Given the description of an element on the screen output the (x, y) to click on. 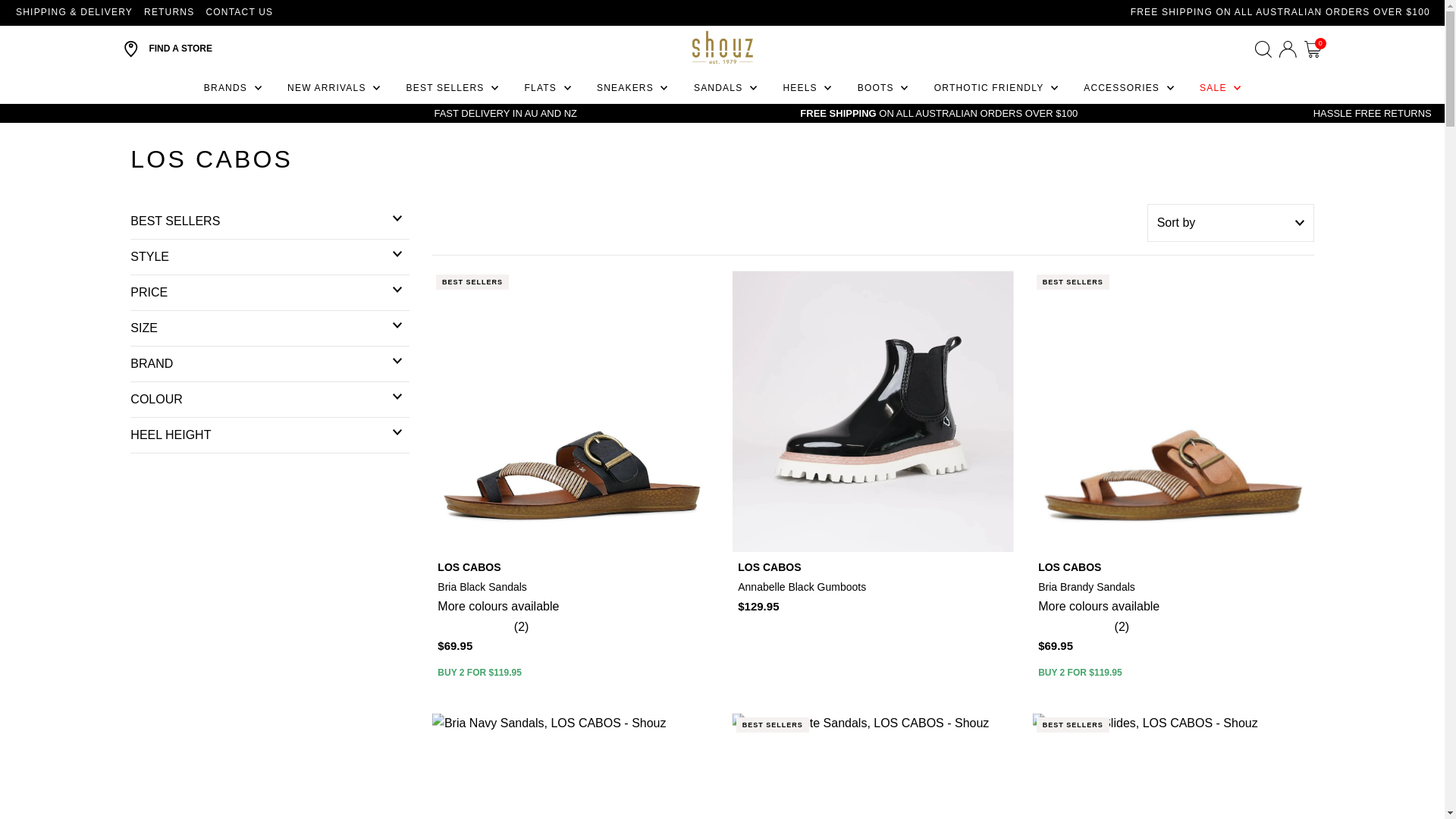
Cart (1313, 48)
Search (1263, 48)
User (1287, 48)
